Given the description of an element on the screen output the (x, y) to click on. 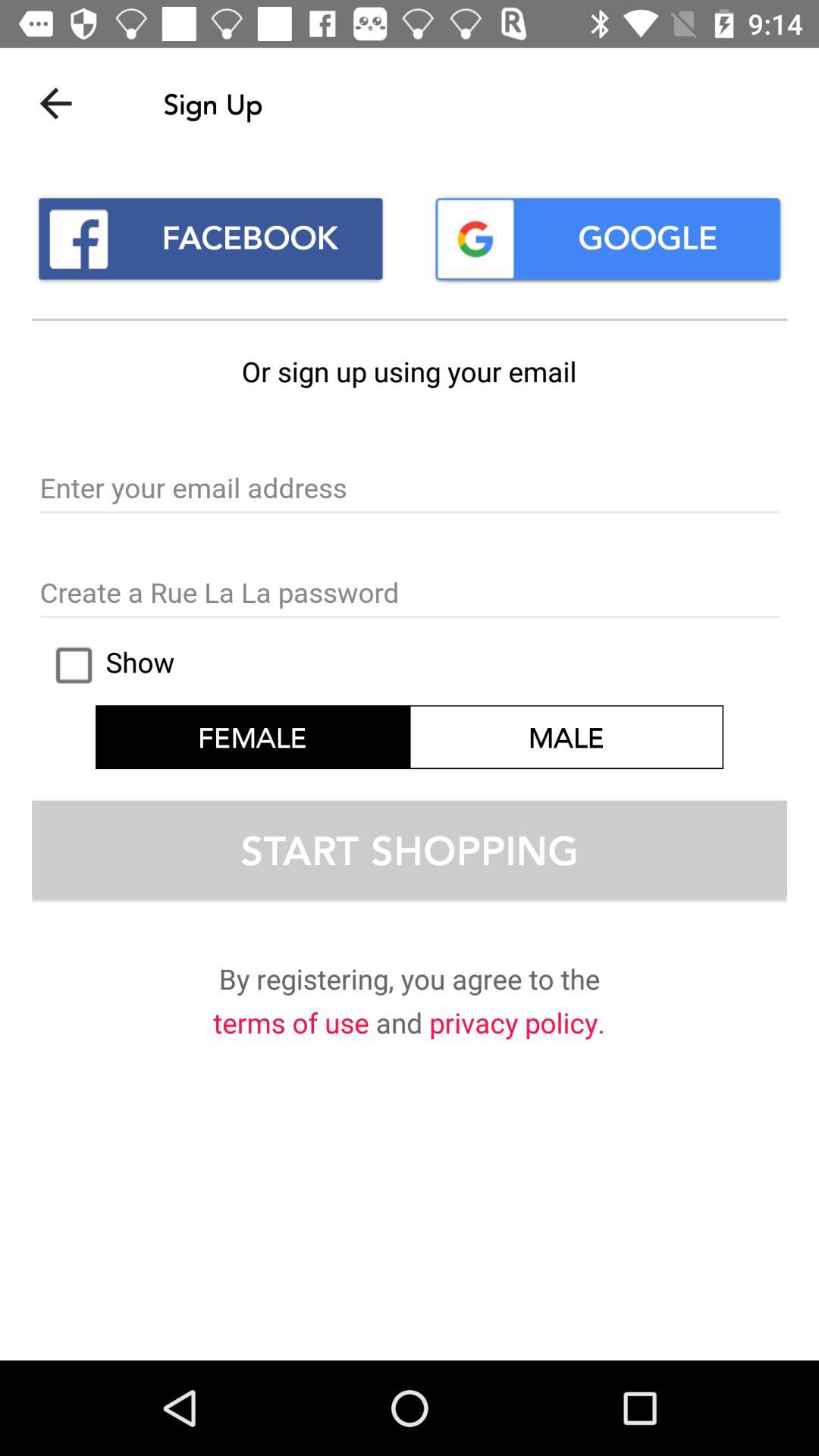
flip until the show (108, 665)
